Given the description of an element on the screen output the (x, y) to click on. 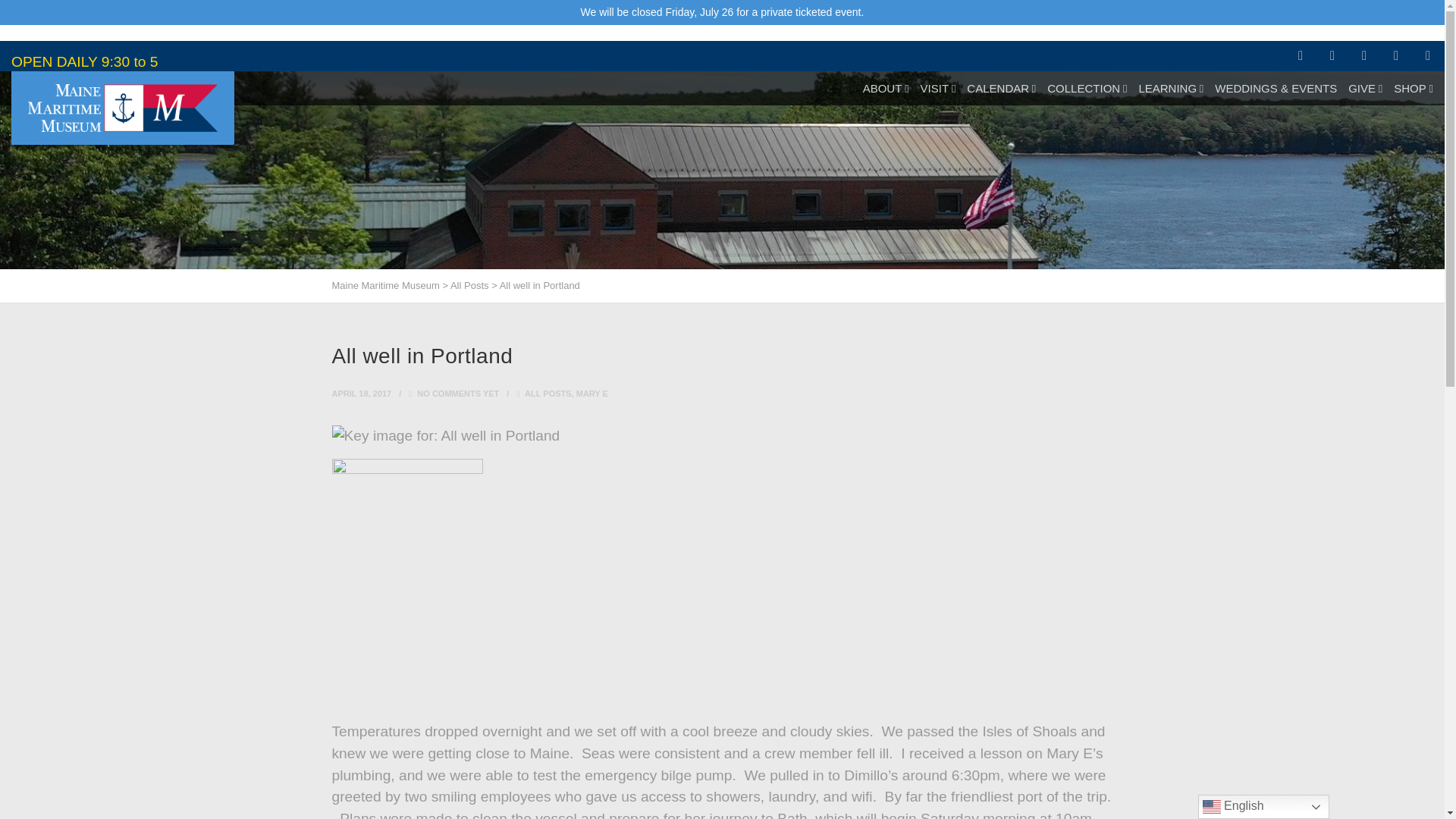
ABOUT (885, 88)
VISIT (938, 88)
COLLECTION (1086, 88)
Go to Maine Maritime Museum. (385, 285)
CALENDAR (1000, 88)
Go to the All Posts Category archives. (469, 285)
Maine Maritime Museum (121, 107)
